Given the description of an element on the screen output the (x, y) to click on. 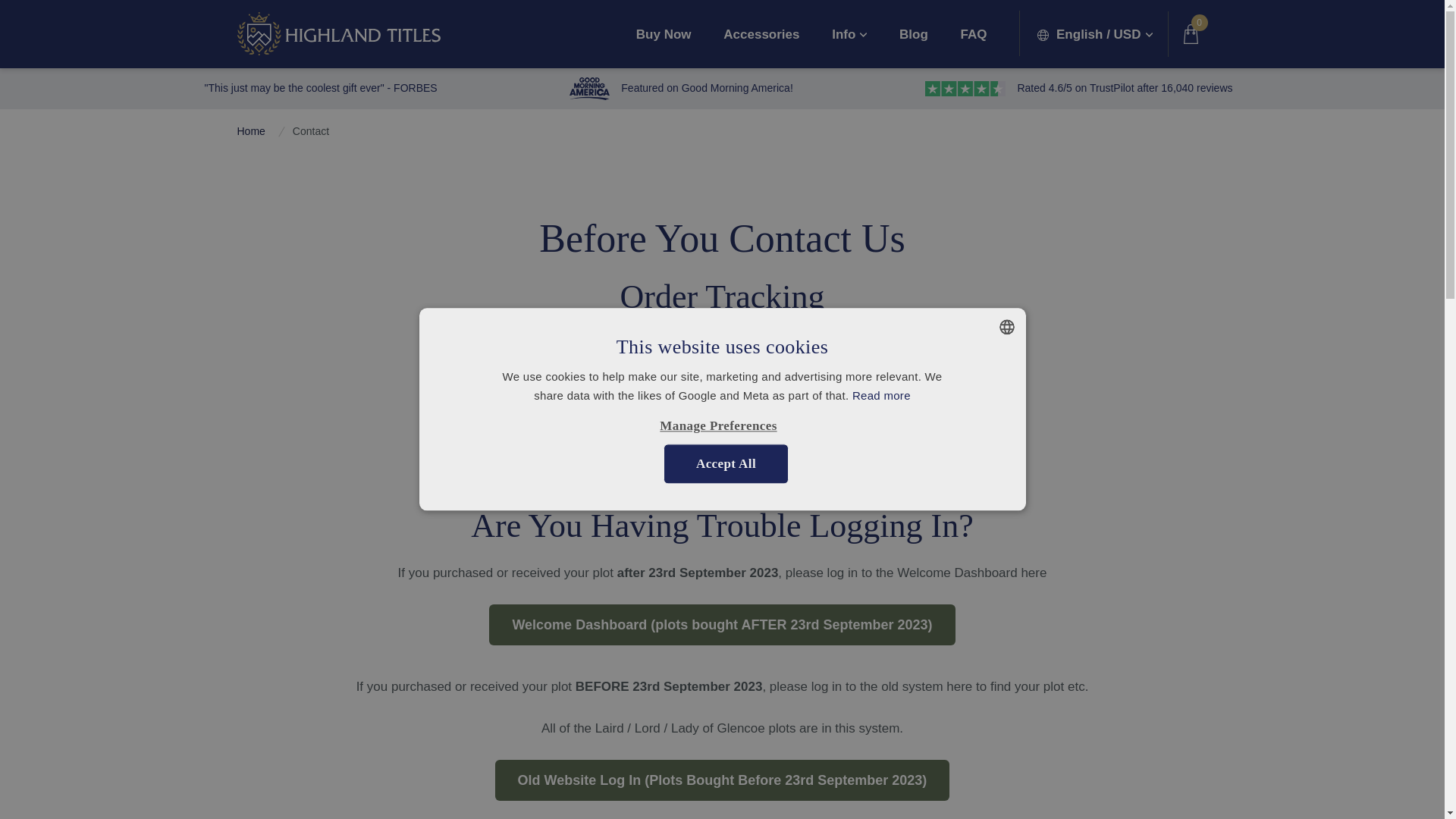
Accessories (761, 33)
Basket (1194, 34)
Buy Now (663, 33)
Home (249, 131)
0 (1194, 34)
Click to expand menu (1093, 33)
Click to expand menu (848, 33)
Home (337, 33)
Info (848, 33)
FAQ (973, 33)
